Given the description of an element on the screen output the (x, y) to click on. 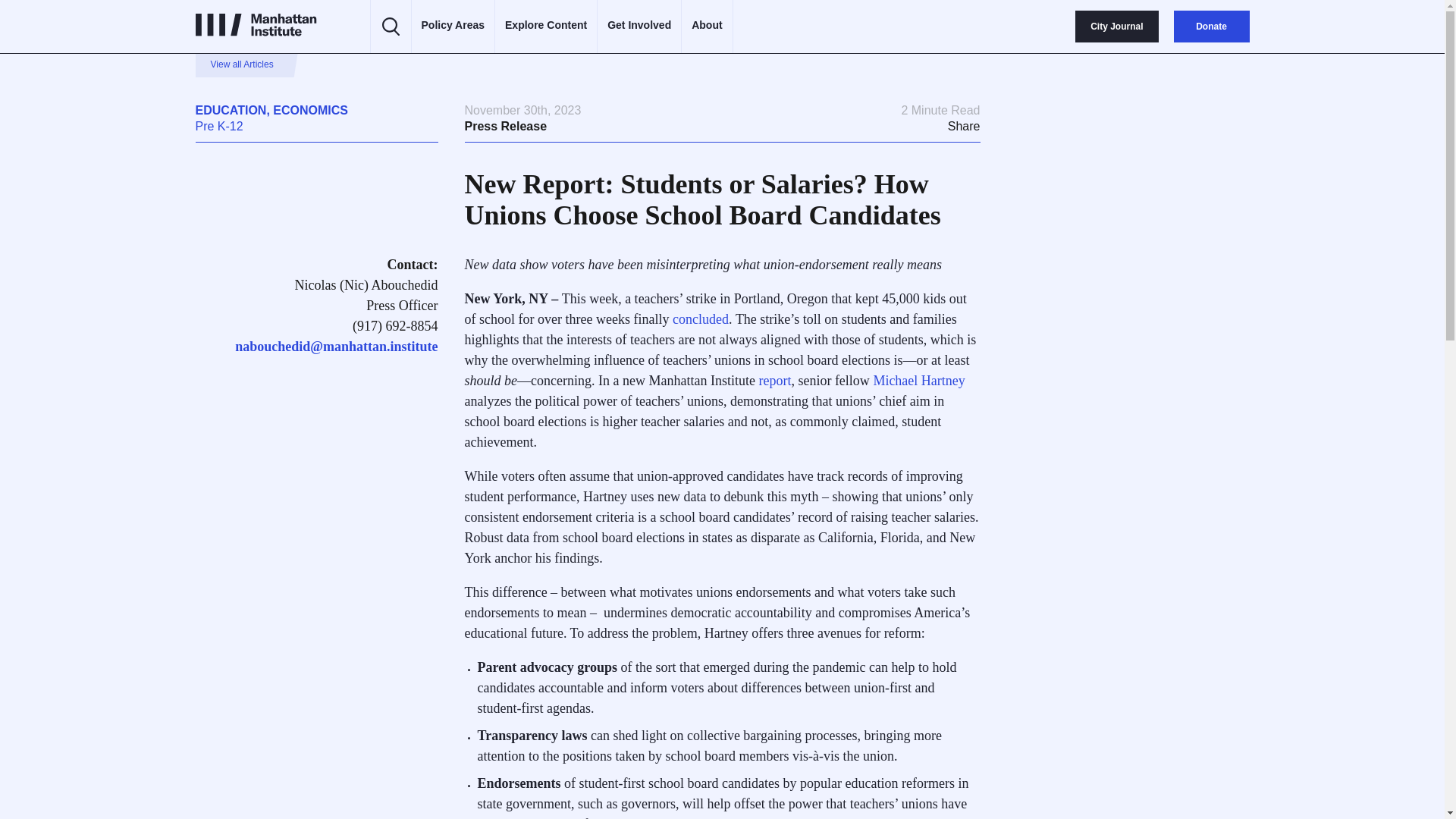
Explore Content (545, 26)
About (706, 26)
City Journal (1116, 26)
Policy Areas (453, 26)
Donate (1211, 26)
Get Involved (639, 26)
